Given the description of an element on the screen output the (x, y) to click on. 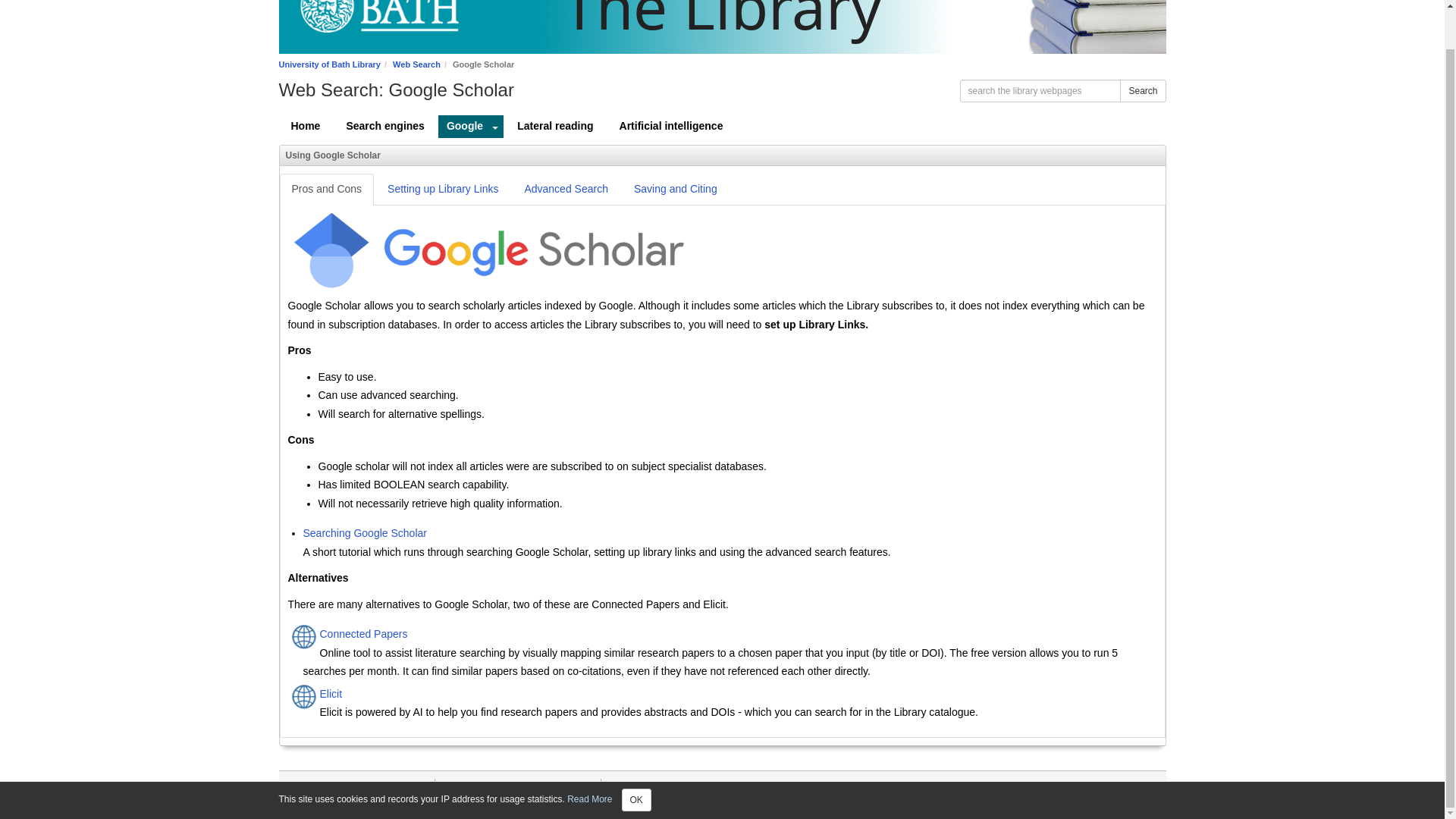
Pros and Cons (326, 189)
Lateral reading (555, 126)
Search engines (384, 126)
Artificial intelligence (671, 126)
Elicit (746, 694)
Report a problem. (1118, 799)
Login to LibApps (1120, 785)
Advanced Search (566, 189)
University of Bath Homepage (373, 27)
Home (306, 126)
Setting up Library Links (443, 189)
Print Page (627, 785)
Search (1142, 90)
AI (414, 803)
OK (635, 758)
